Given the description of an element on the screen output the (x, y) to click on. 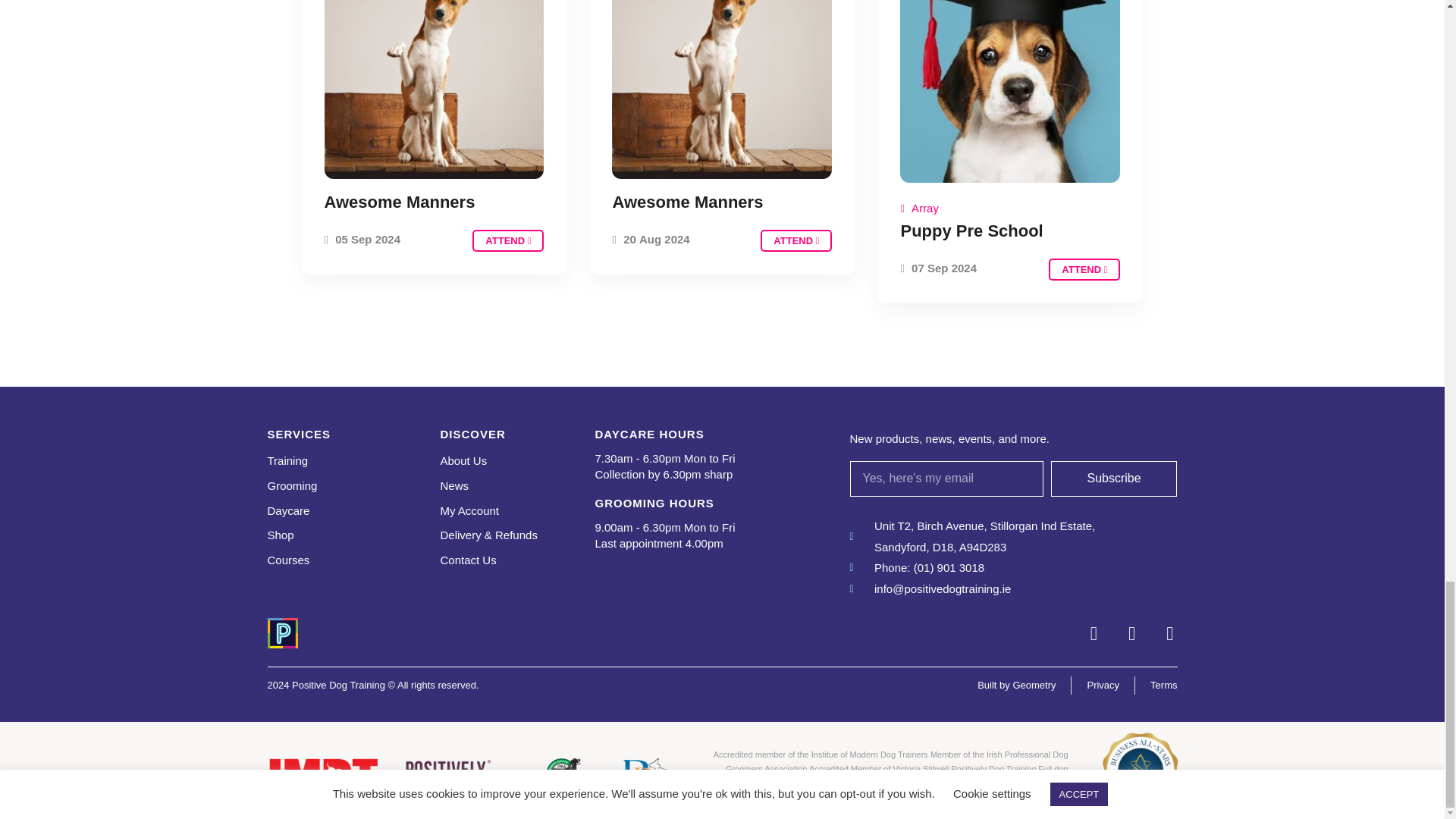
Positive Dog Training Favicon (281, 633)
vspdt (457, 775)
Awesome Manners (795, 240)
Awesome Manners (400, 201)
Awesome Manners (507, 240)
Puppy Pre School (1083, 269)
Generic Seal 02-01 (1139, 770)
IMDT Member Logo (322, 775)
ATTEND (507, 240)
ATTEND (795, 240)
Pet Professional Guild Member Logo (645, 775)
Awesome Manners (686, 201)
IPDGA Member Logo (559, 775)
Puppy Pre School (970, 230)
ATTEND (1083, 269)
